Given the description of an element on the screen output the (x, y) to click on. 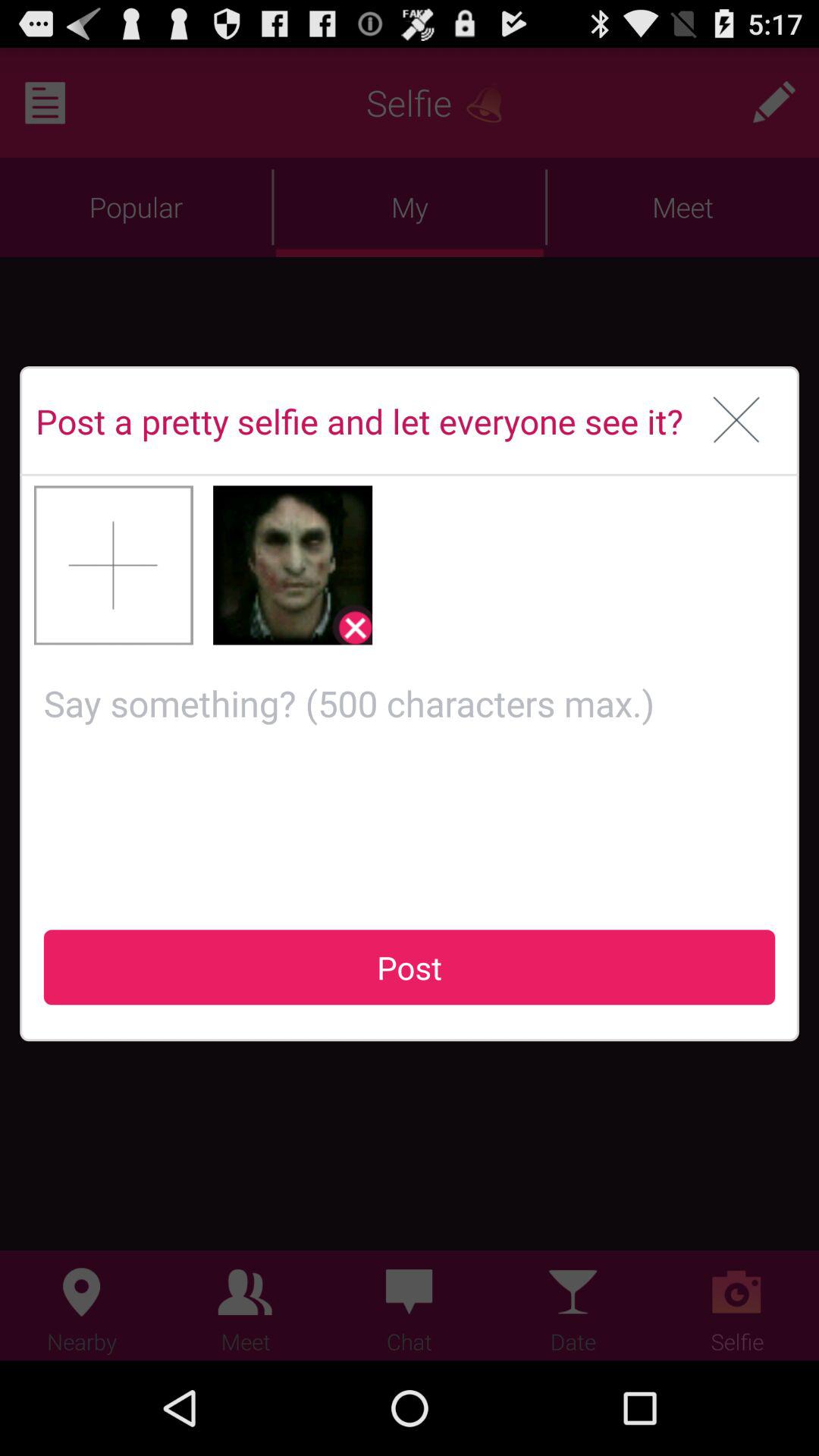
add photo (113, 564)
